Given the description of an element on the screen output the (x, y) to click on. 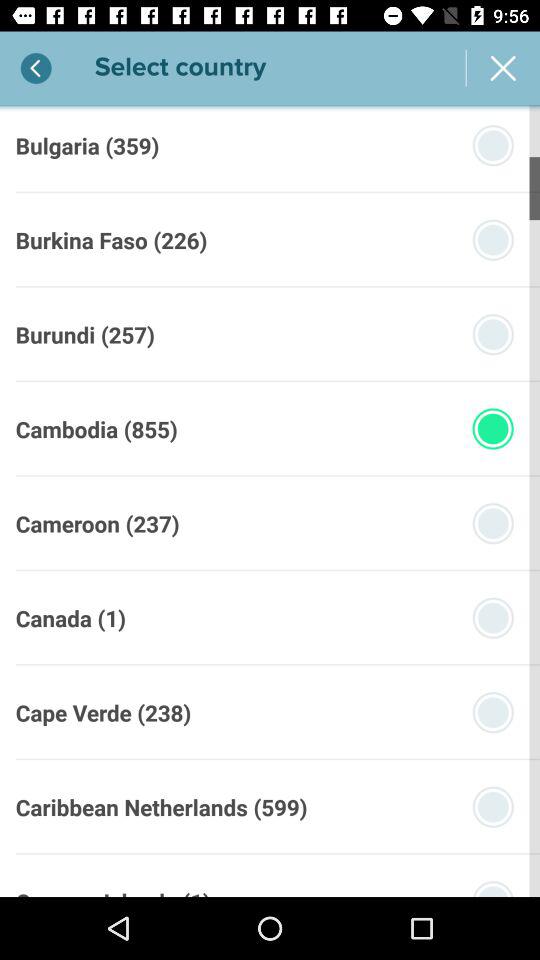
launch the cayman islands (1) (112, 891)
